Given the description of an element on the screen output the (x, y) to click on. 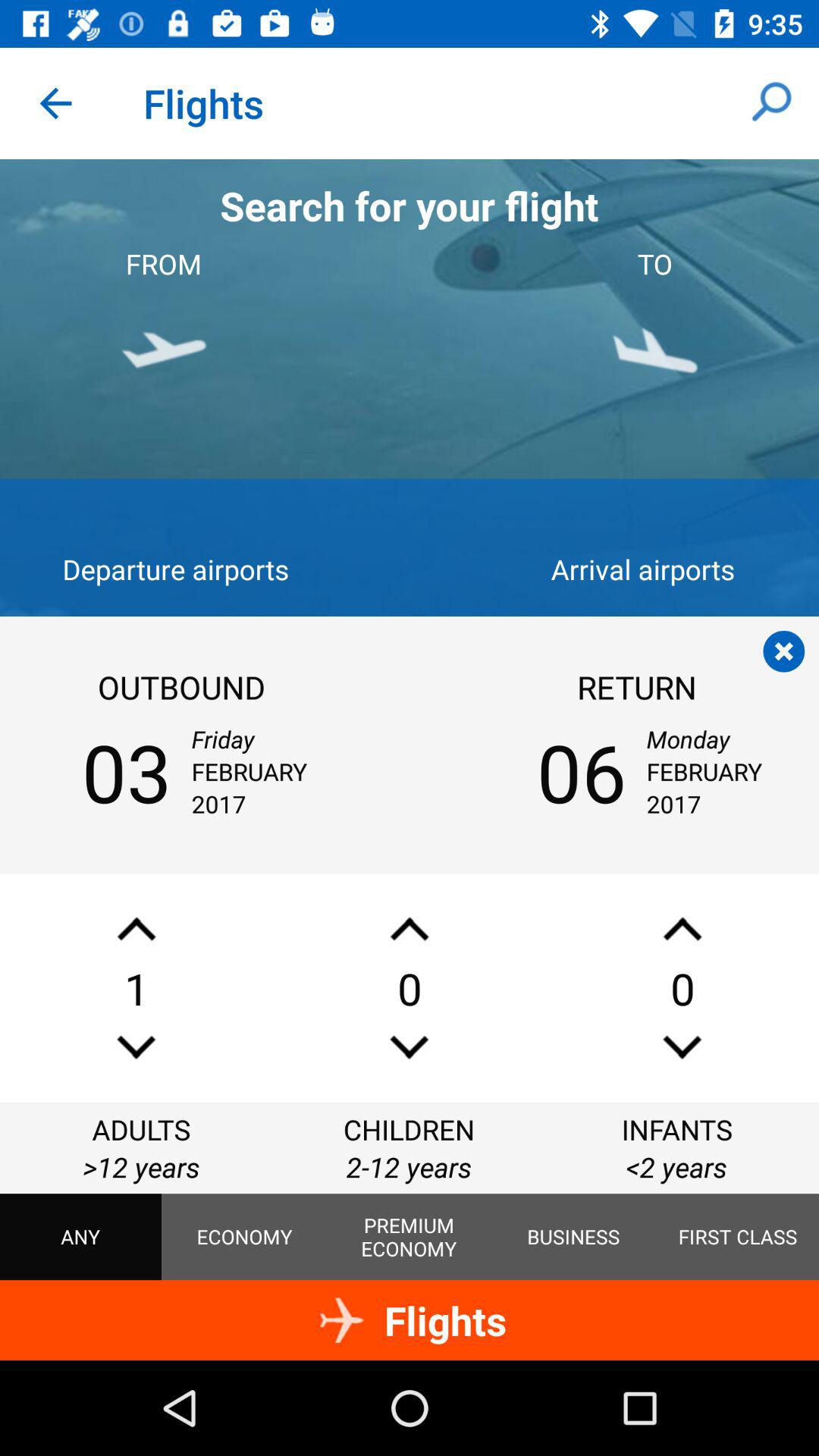
close flight search (784, 651)
